Given the description of an element on the screen output the (x, y) to click on. 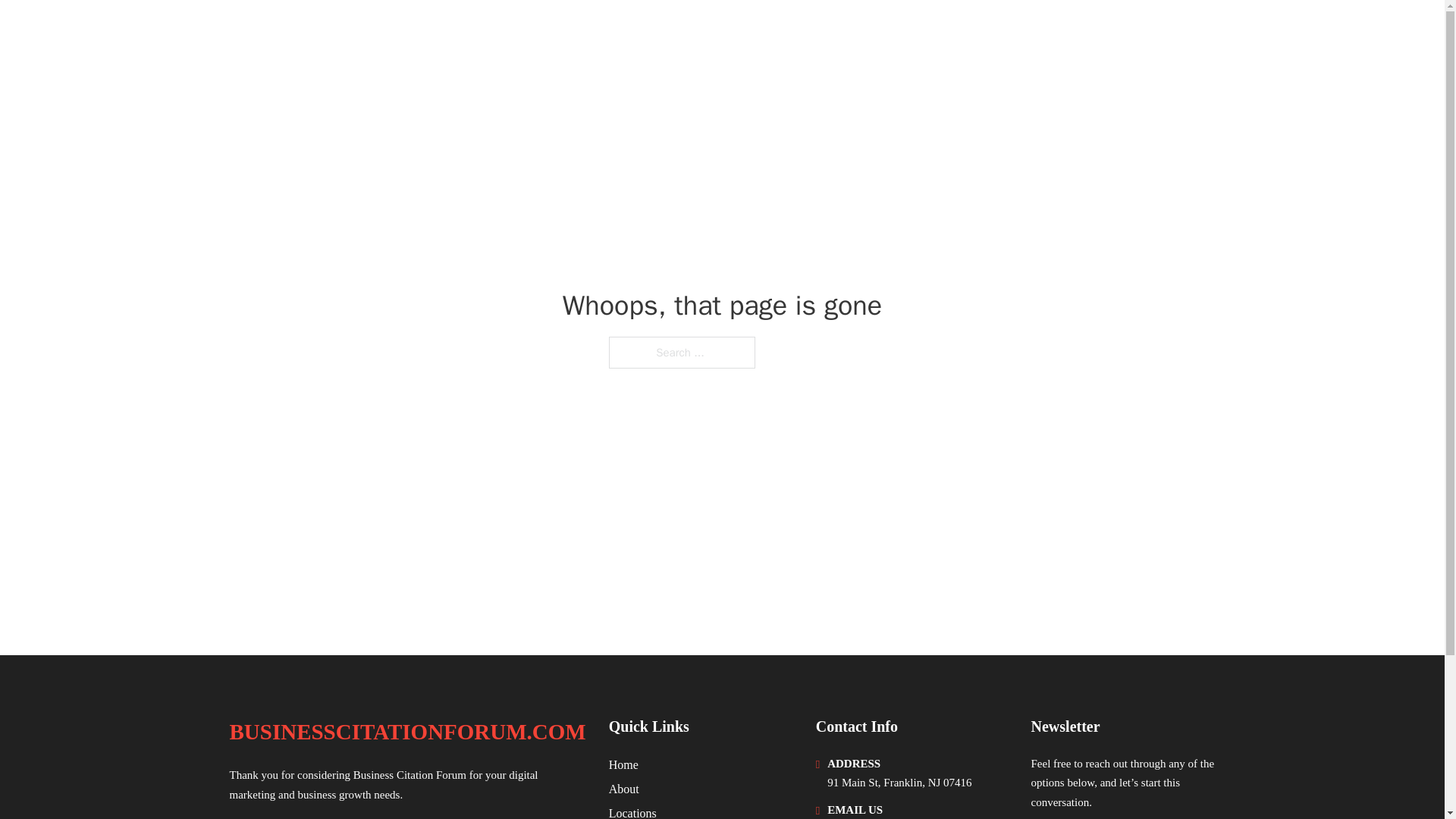
About (623, 788)
Home (623, 764)
BUSINESSCITATIONFORUM.COM (425, 31)
Locations (632, 811)
HOME (1025, 31)
LOCATIONS (1098, 31)
BUSINESSCITATIONFORUM.COM (406, 732)
